Given the description of an element on the screen output the (x, y) to click on. 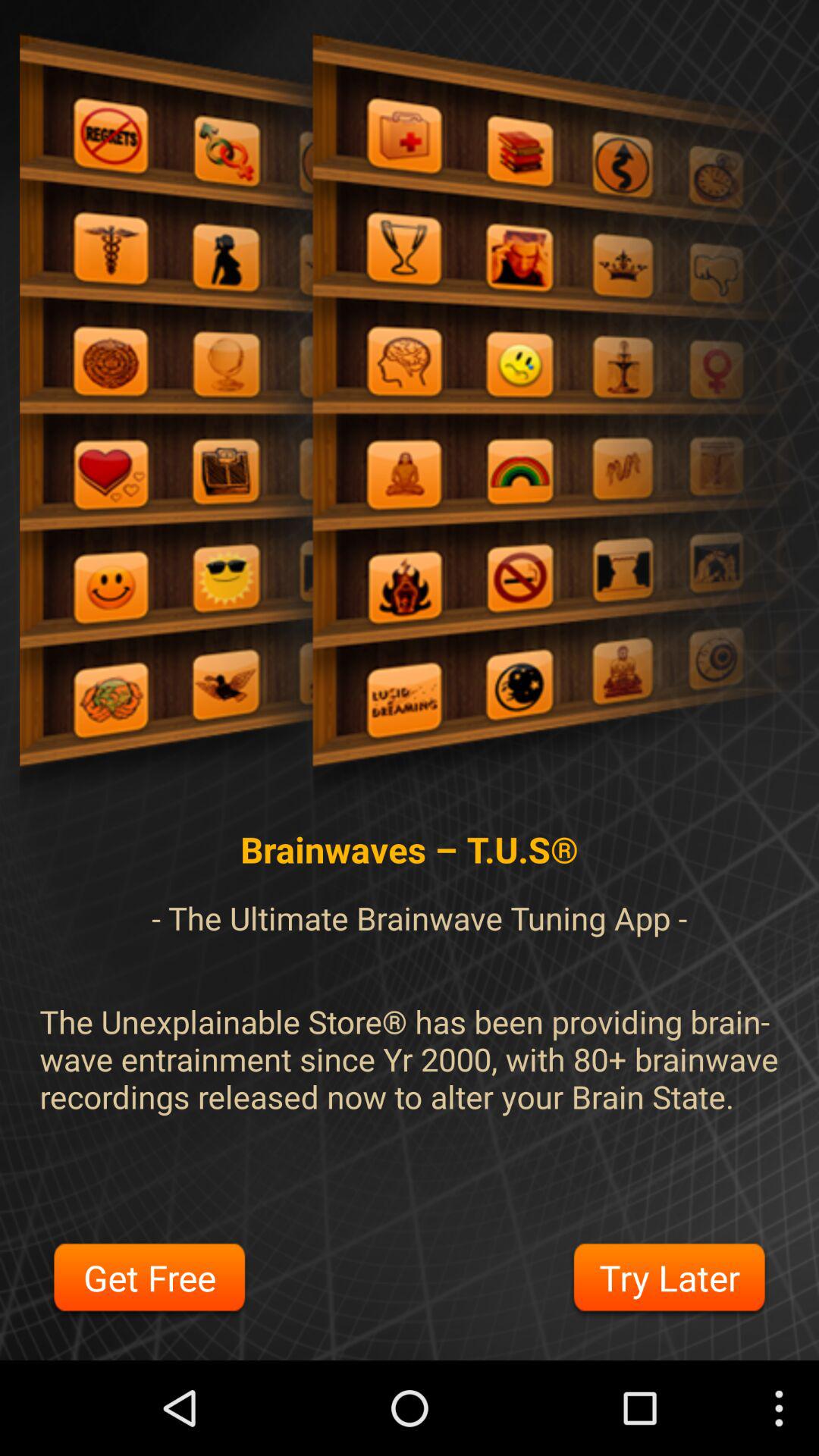
launch the item at the bottom left corner (149, 1280)
